Given the description of an element on the screen output the (x, y) to click on. 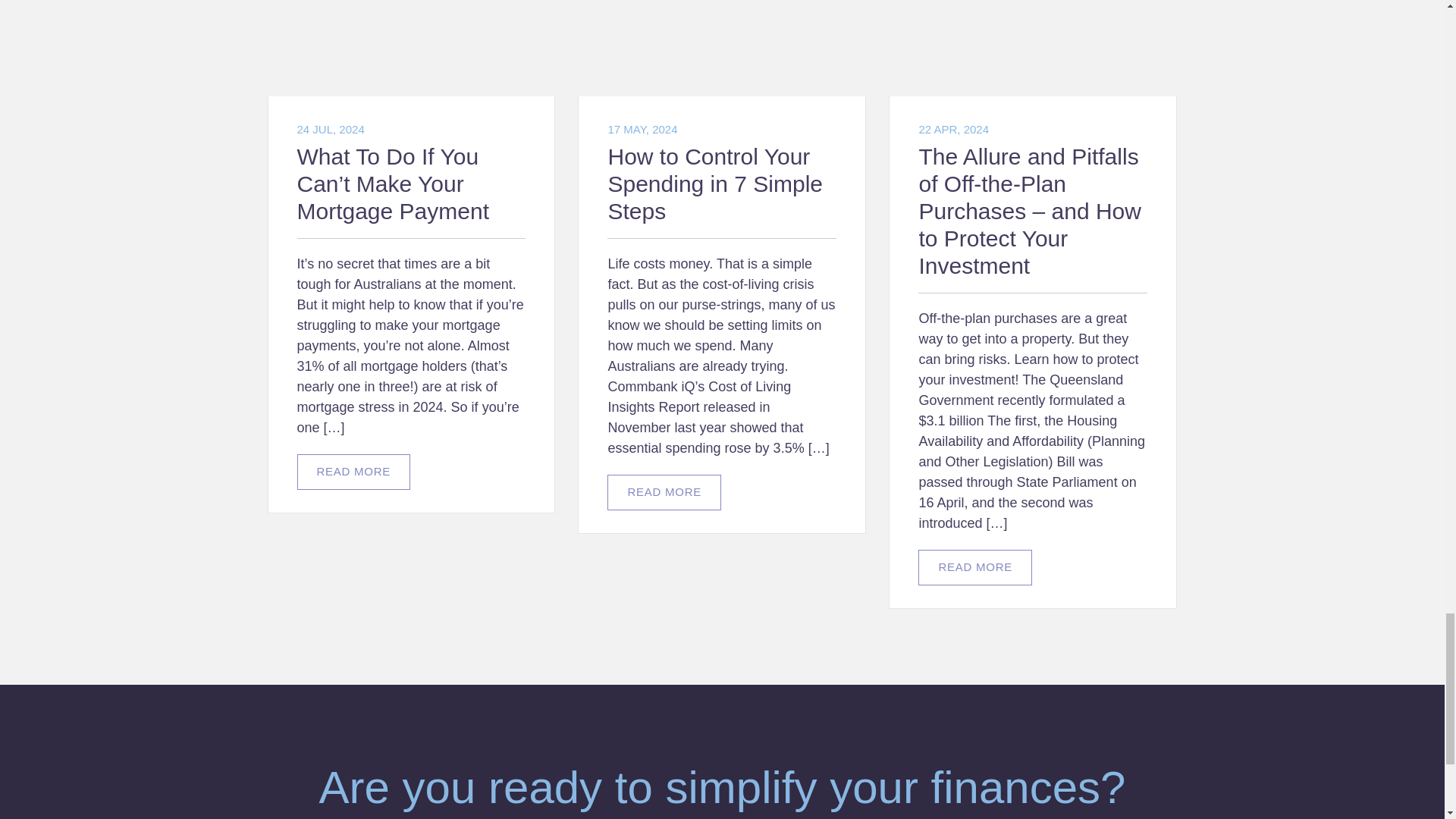
READ MORE (663, 492)
READ MORE (975, 567)
READ MORE (353, 471)
